Given the description of an element on the screen output the (x, y) to click on. 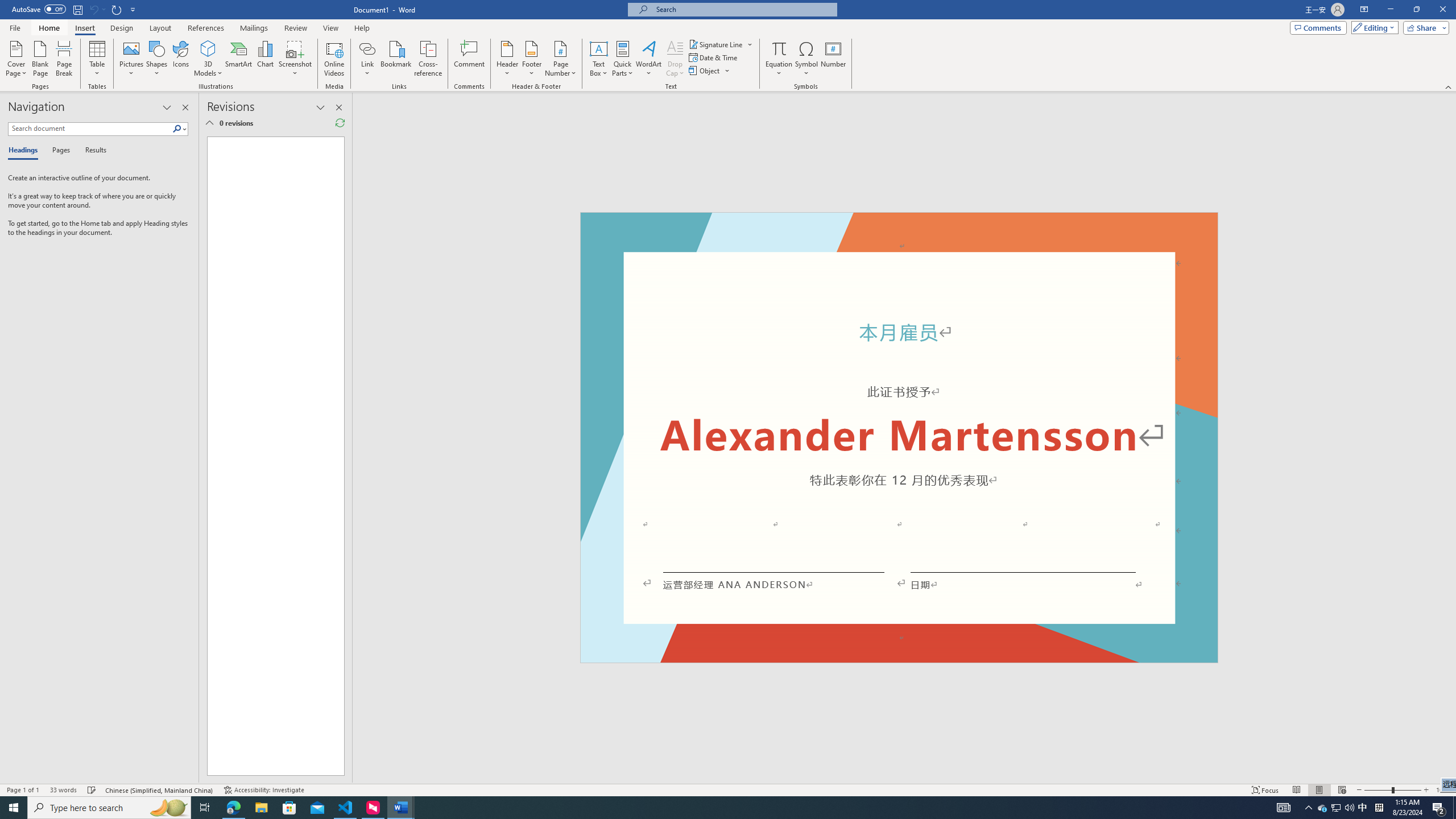
Equation (778, 48)
Blank Page (40, 58)
Page Break (63, 58)
Signature Line (721, 44)
Shapes (156, 58)
Link (367, 58)
Page Number Page 1 of 1 (22, 790)
Decorative (898, 437)
